Given the description of an element on the screen output the (x, y) to click on. 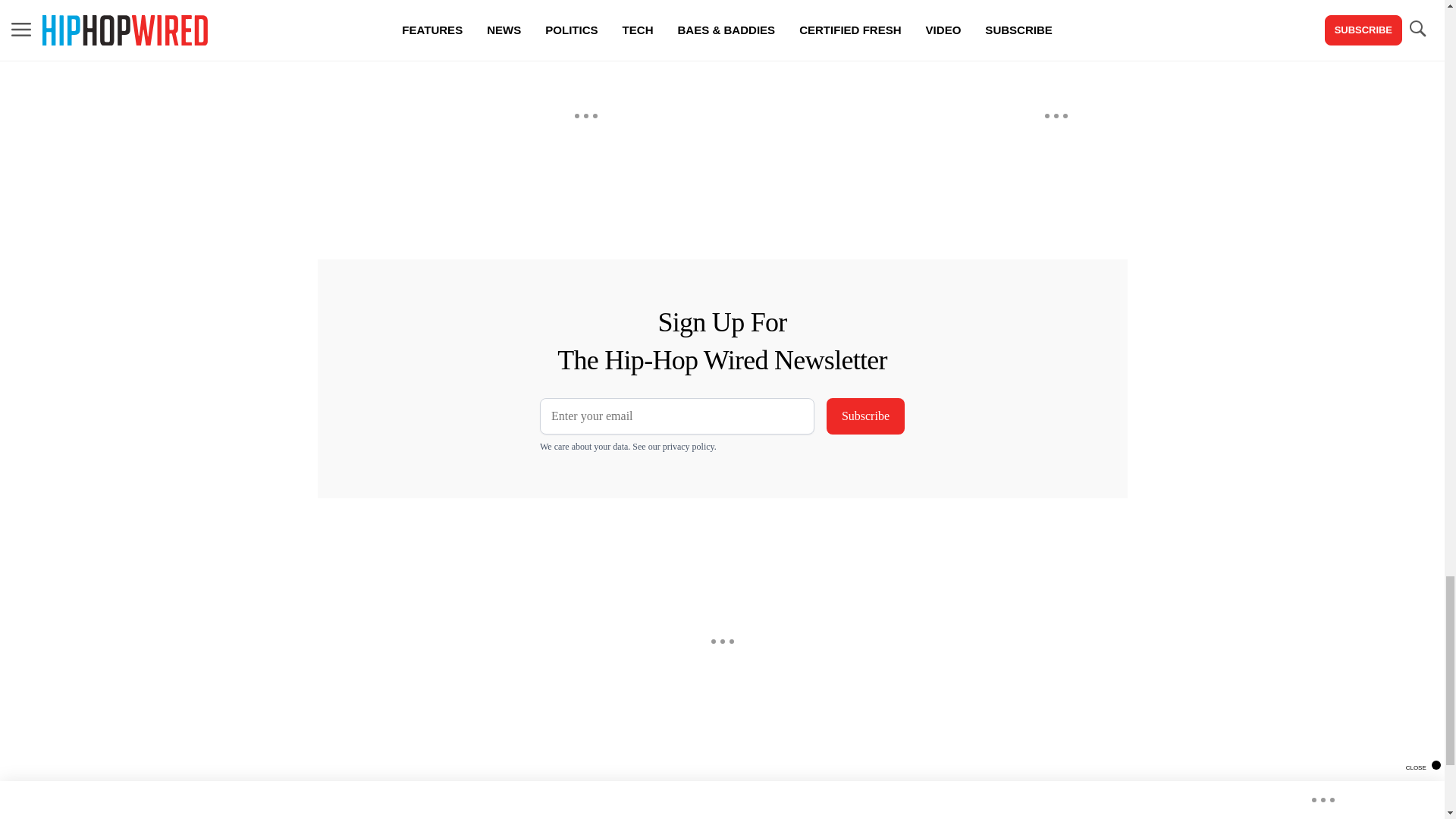
Subscribe (865, 416)
privacy policy (688, 446)
